Given the description of an element on the screen output the (x, y) to click on. 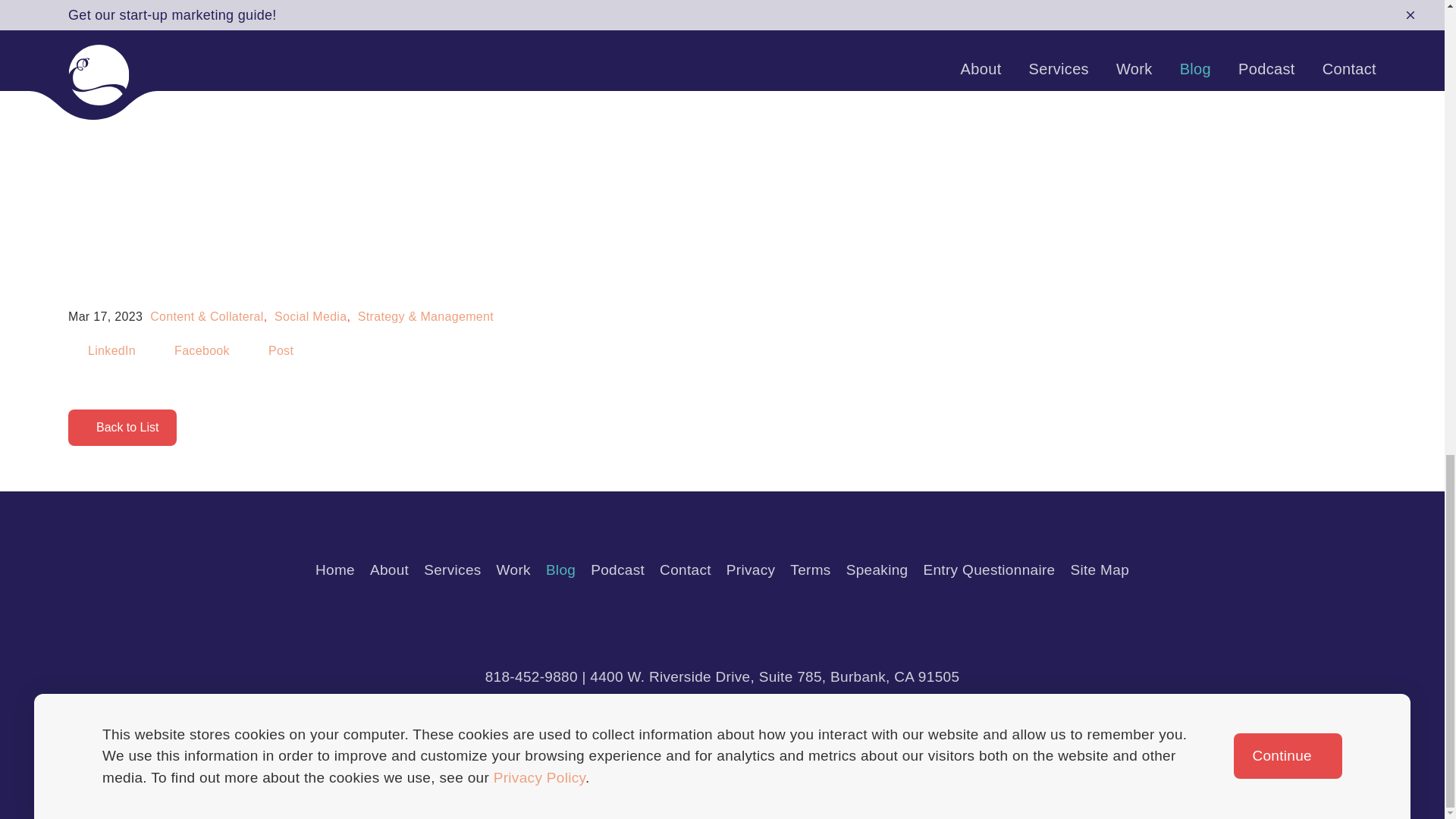
Privacy (751, 570)
Facebook (194, 350)
Elevate My Brand on TikTok (741, 623)
Blog (560, 570)
Work (513, 570)
Share to X (273, 350)
LinkedIn (105, 350)
Elevate My Brand on YouTube (820, 623)
Site Map (1099, 570)
Elevate My Brand on X (780, 623)
Contact (685, 570)
Share to Facebook (194, 350)
Elevate My Brand on Instagram (662, 623)
Elevate My Brand on Facebook (622, 623)
Speaking (876, 570)
